Given the description of an element on the screen output the (x, y) to click on. 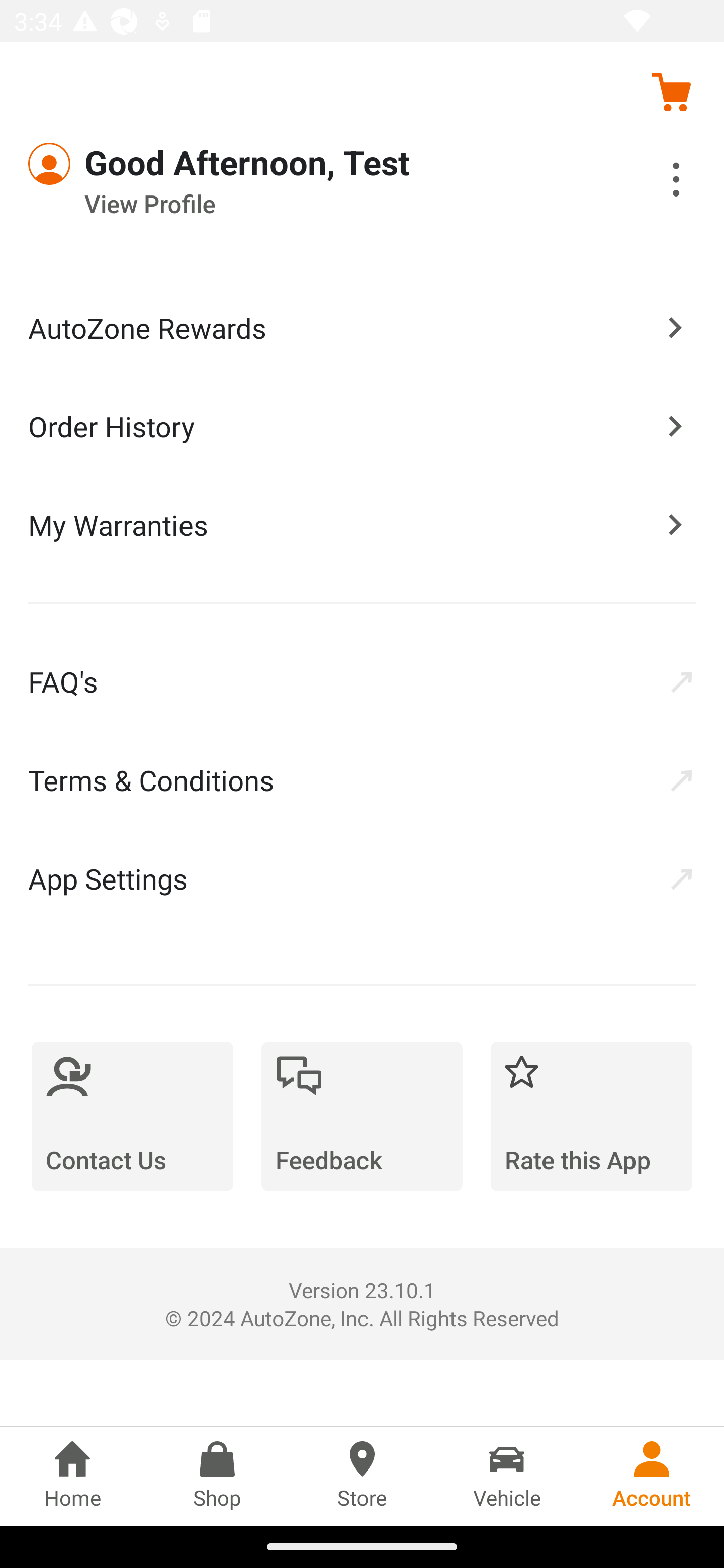
Cart, no items  (670, 91)
Good  (100, 163)
︙ (654, 182)
View Profile (306, 203)
AutoZone Rewards  (361, 327)
Order History  (361, 425)
My Warranties  (361, 524)
FAQ's  (361, 680)
Terms & Conditions  (361, 779)
App Settings  (361, 878)
Contact Us (132, 1116)
Feedback (361, 1116)
Rate this App (591, 1116)
Home (72, 1475)
Shop (216, 1475)
Store (361, 1475)
Vehicle (506, 1475)
Account (651, 1475)
